Given the description of an element on the screen output the (x, y) to click on. 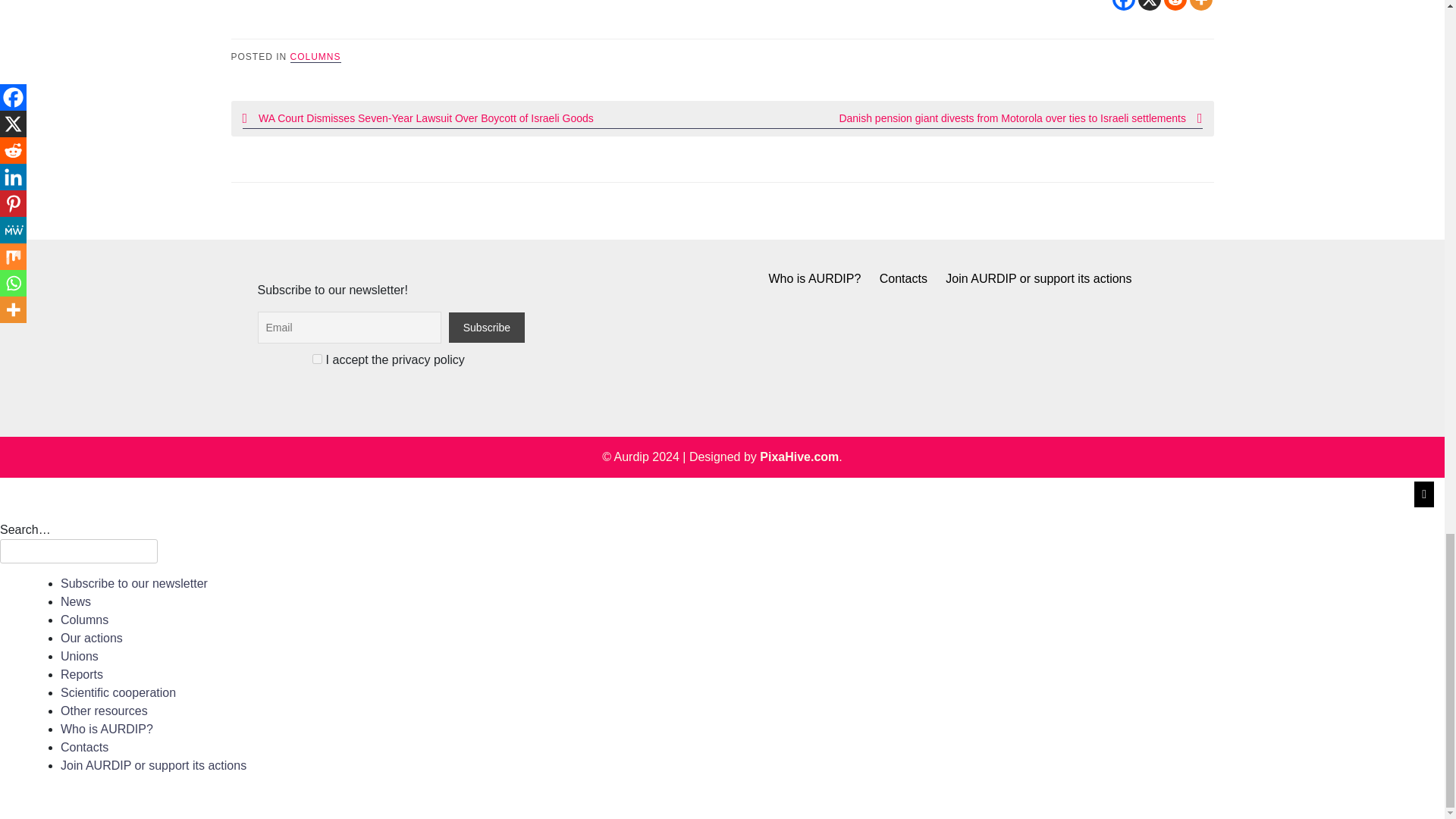
Subscribe (486, 327)
Facebook (1123, 5)
on (317, 358)
